Given the description of an element on the screen output the (x, y) to click on. 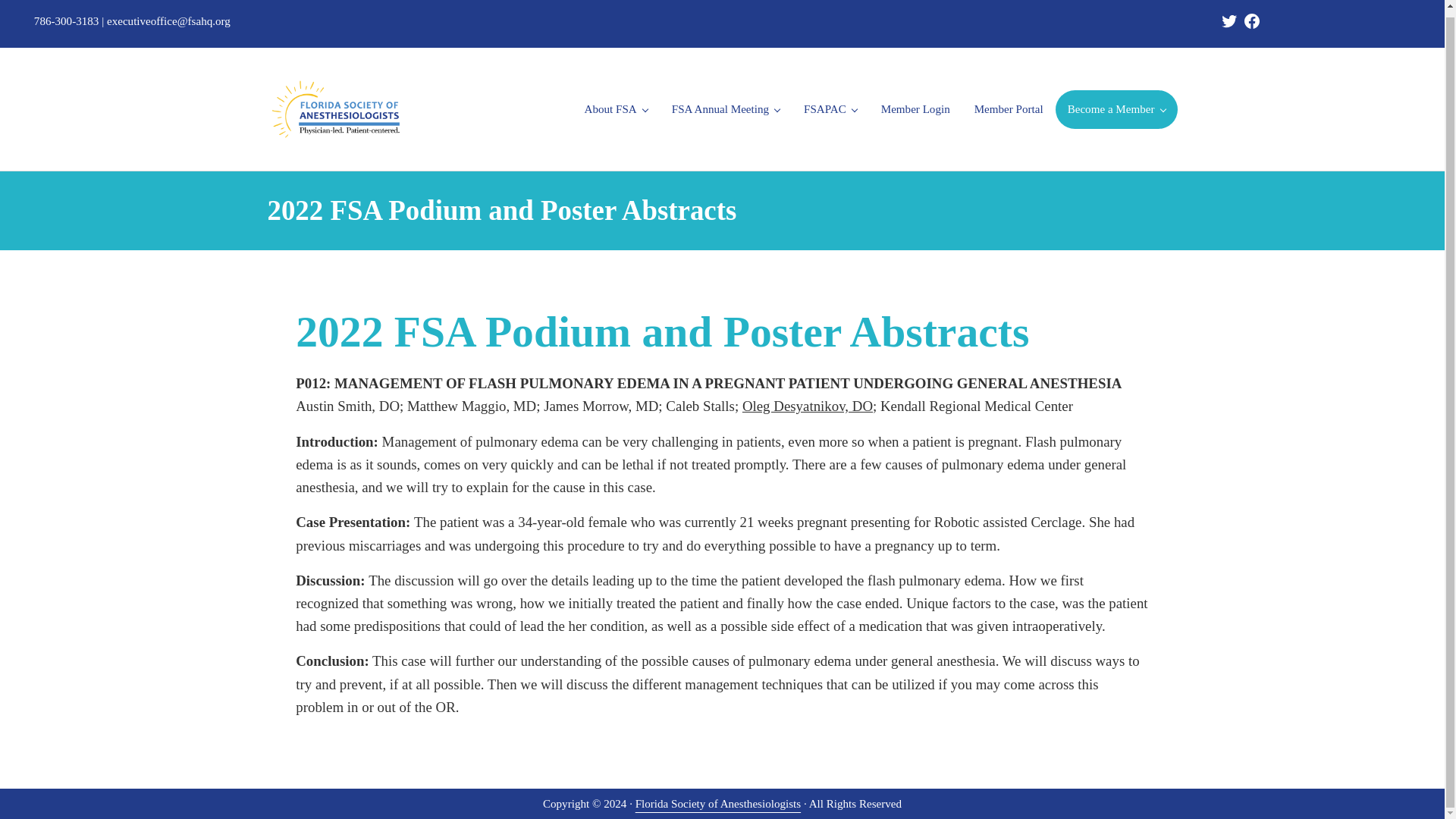
FSAPAC (830, 108)
Member Login (915, 108)
FSA Annual Meeting (725, 108)
Twitter (1229, 21)
Member Portal (1008, 108)
About FSA (615, 108)
Facebook (1251, 21)
Become a Member (1116, 108)
